Given the description of an element on the screen output the (x, y) to click on. 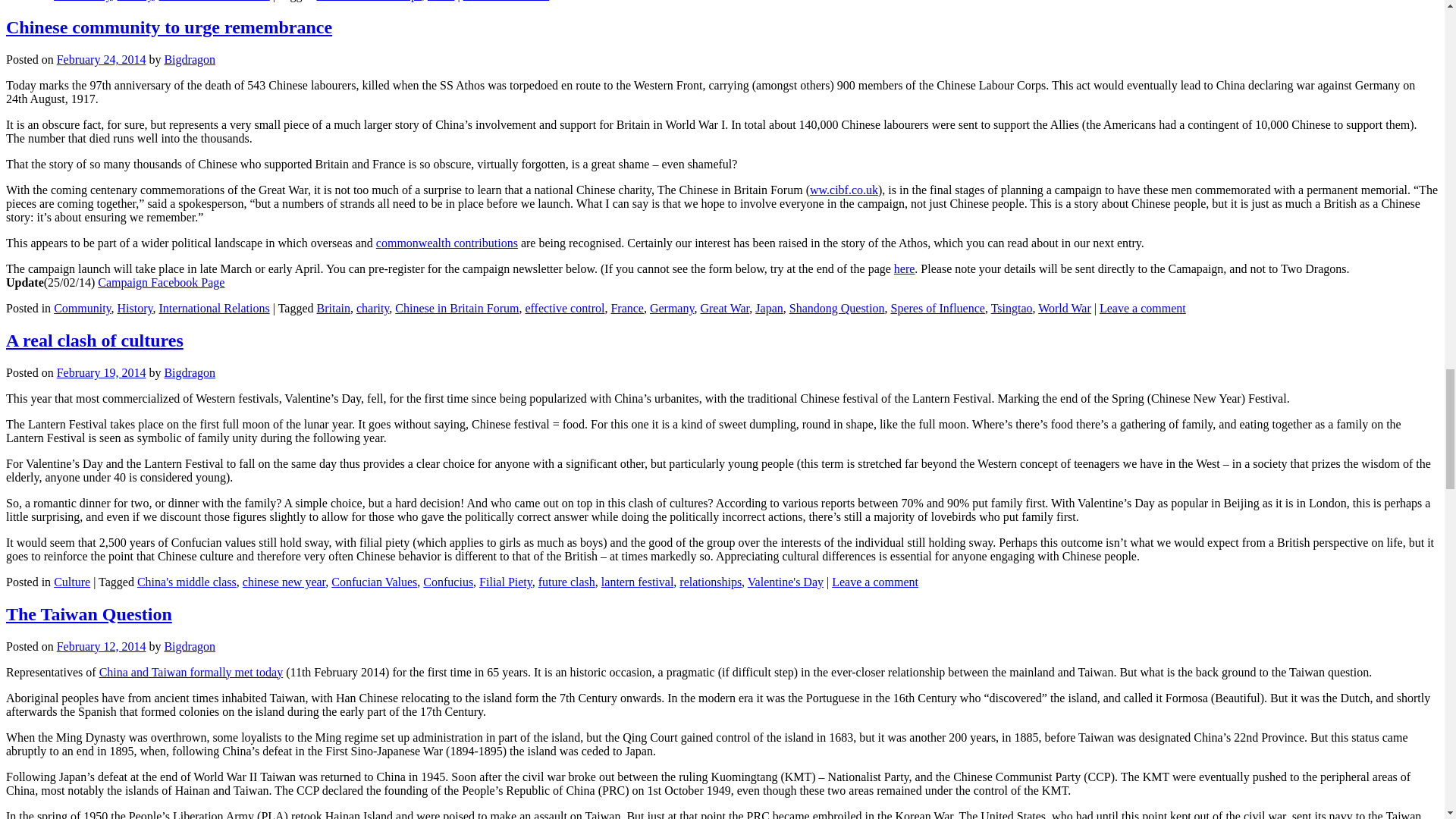
View all posts by Bigdragon (189, 645)
11:26 pm (101, 59)
View all posts by Bigdragon (189, 59)
10:34 am (101, 372)
View all posts by Bigdragon (189, 372)
2:59 am (101, 645)
Community (81, 0)
History (134, 0)
International Relations (213, 0)
